Given the description of an element on the screen output the (x, y) to click on. 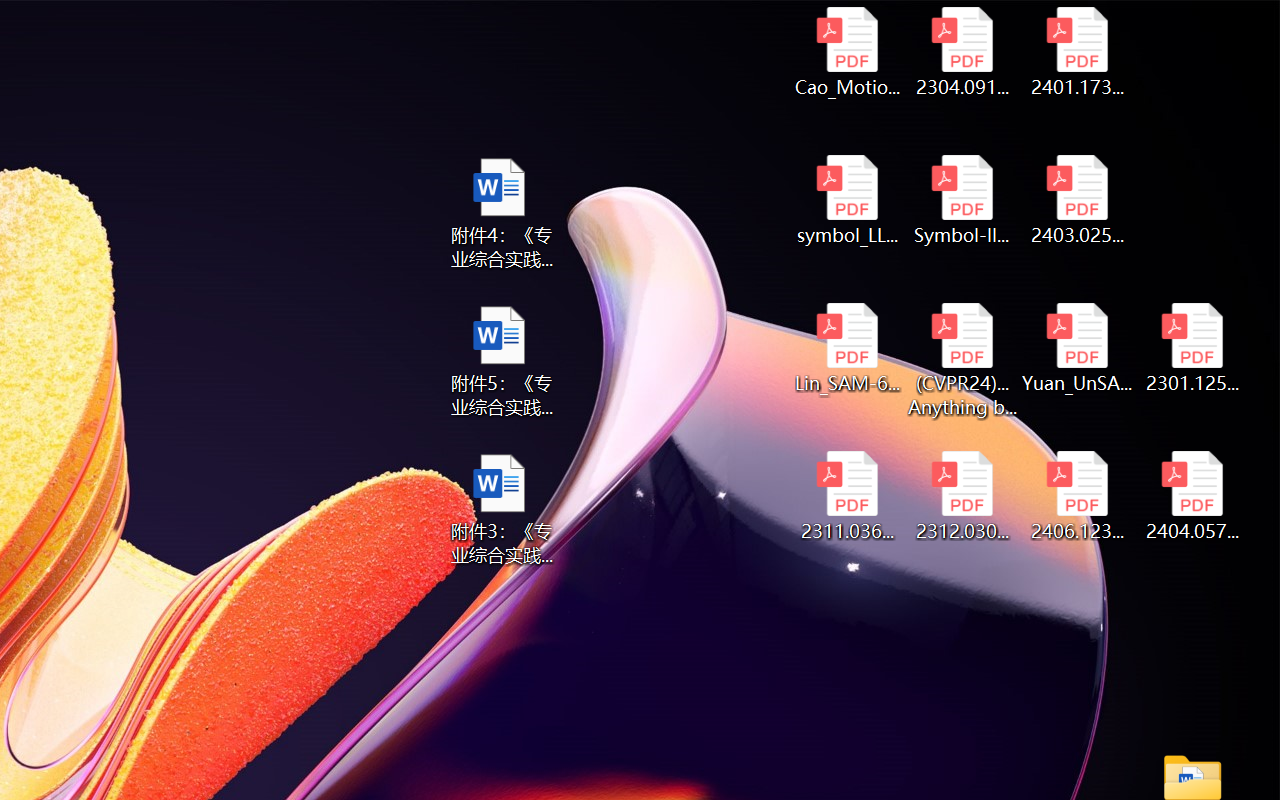
(CVPR24)Matching Anything by Segmenting Anything.pdf (962, 360)
2311.03658v2.pdf (846, 496)
